Given the description of an element on the screen output the (x, y) to click on. 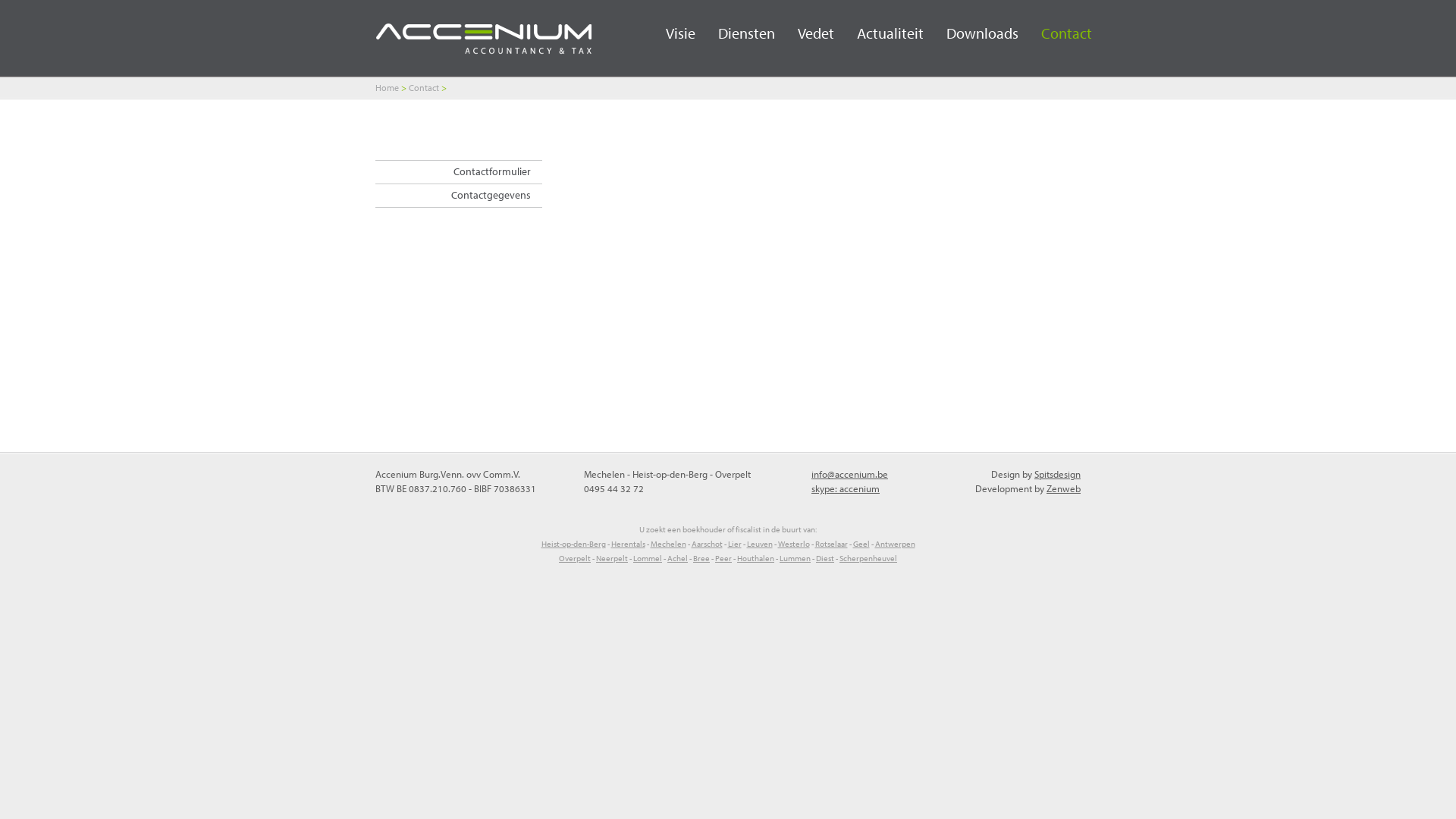
Downloads Element type: text (970, 30)
Zenweb Element type: text (1063, 488)
Aarschot Element type: text (706, 543)
Overpelt Element type: text (574, 557)
Scherpenheuvel Element type: text (868, 557)
Diensten Element type: text (735, 30)
Vedet Element type: text (804, 30)
Lier Element type: text (734, 543)
Herentals Element type: text (628, 543)
Bree Element type: text (701, 557)
Heist-op-den-Berg Element type: text (573, 543)
Westerlo Element type: text (793, 543)
Lummen Element type: text (794, 557)
Diest Element type: text (824, 557)
Achel Element type: text (677, 557)
Lommel Element type: text (647, 557)
Houthalen Element type: text (755, 557)
Spitsdesign Element type: text (1057, 473)
Contactformulier Element type: text (458, 171)
Actualiteit Element type: text (878, 30)
Rotselaar Element type: text (830, 543)
Accenium Element type: hover (483, 41)
Contactgegevens Element type: text (458, 195)
info@accenium.be Element type: text (849, 473)
Mechelen Element type: text (668, 543)
Peer Element type: text (723, 557)
Leuven Element type: text (758, 543)
Neerpelt Element type: text (611, 557)
skype: accenium Element type: text (845, 488)
Visie Element type: text (669, 30)
Contact Element type: text (423, 87)
Geel Element type: text (860, 543)
Contact Element type: text (1055, 30)
Home Element type: text (386, 87)
Antwerpen Element type: text (895, 543)
